Given the description of an element on the screen output the (x, y) to click on. 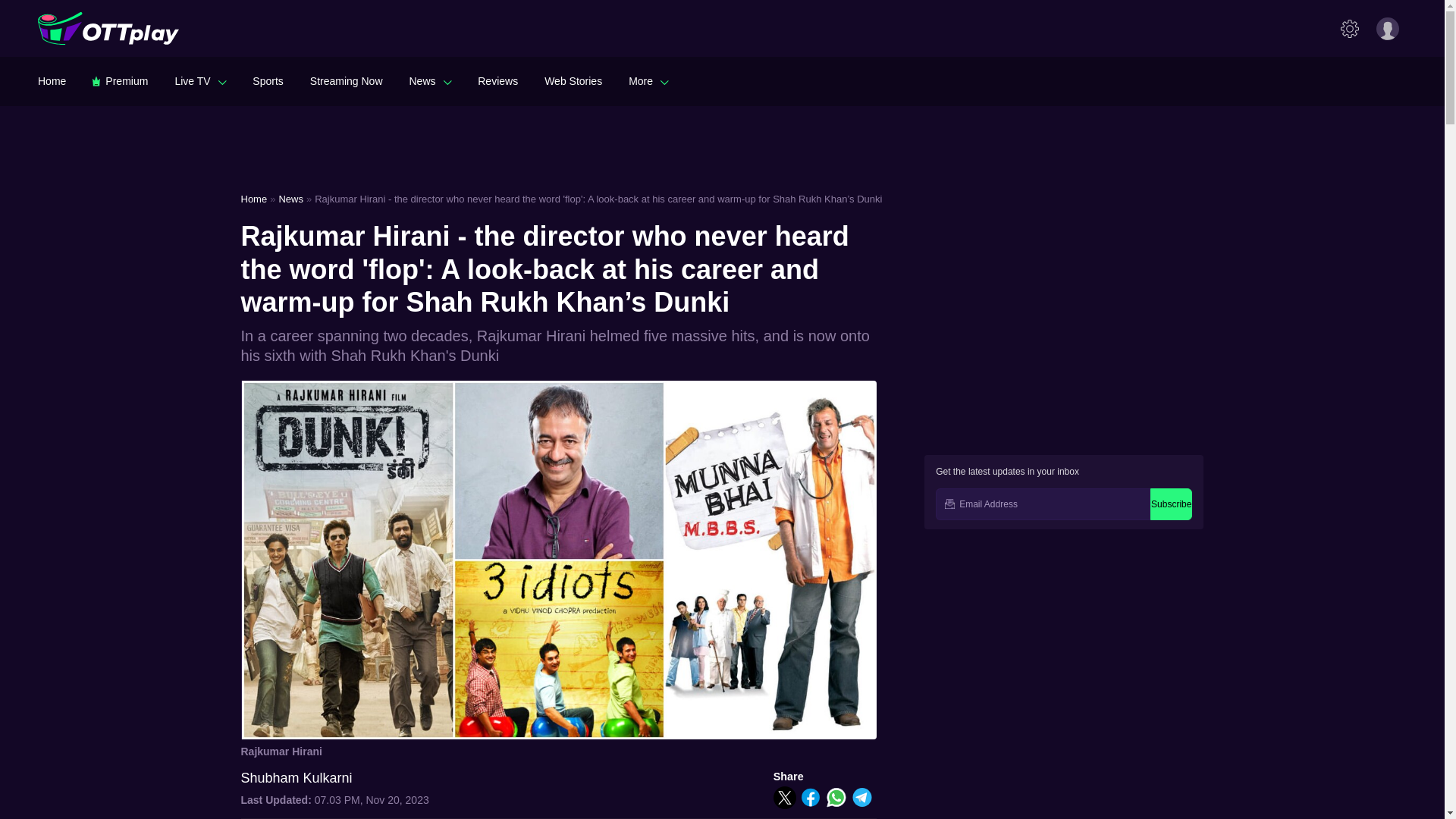
Web Stories (573, 80)
Streaming Now (346, 80)
Premium (120, 80)
News (430, 80)
Live TV (199, 80)
